Given the description of an element on the screen output the (x, y) to click on. 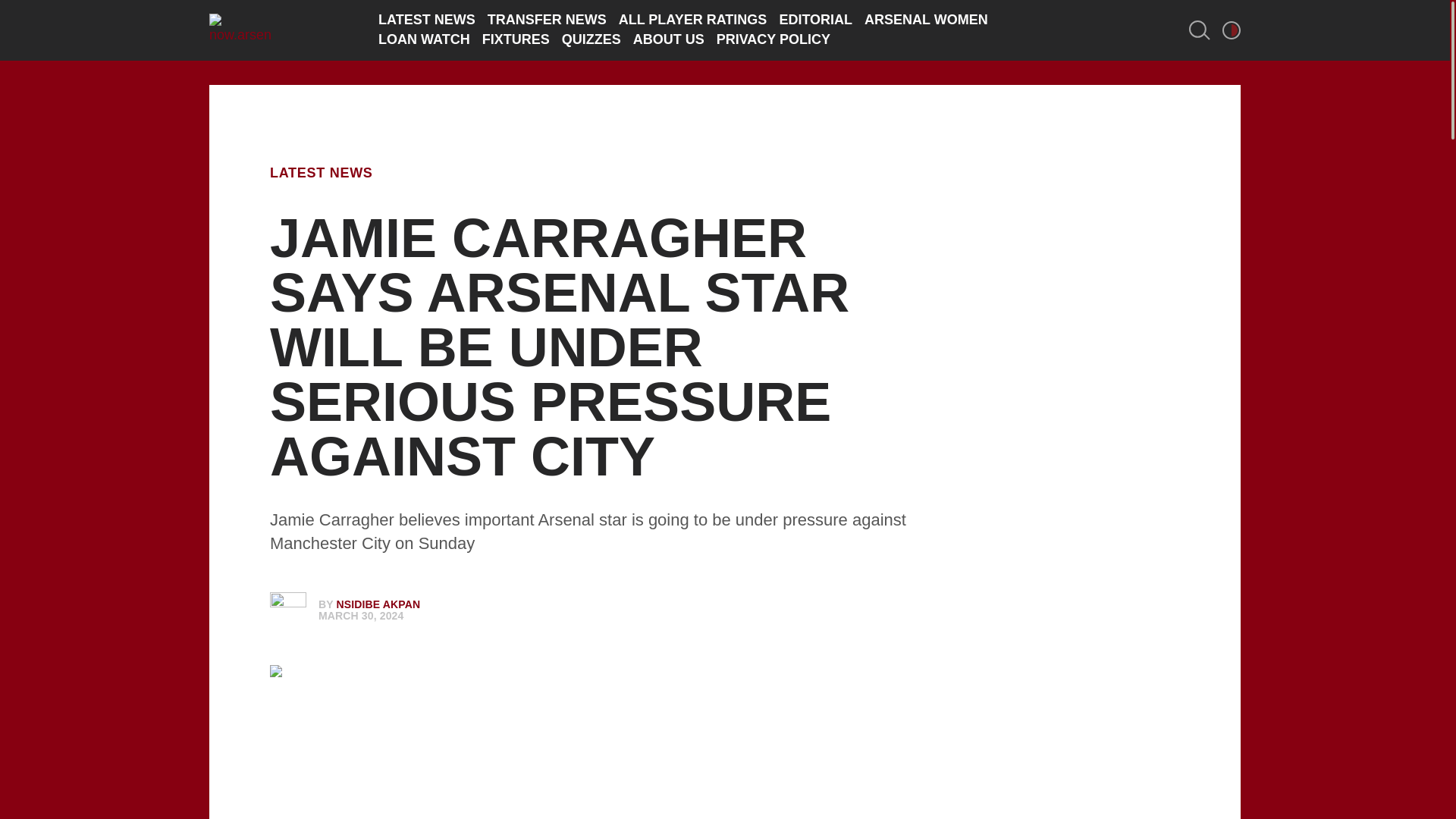
FIXTURES (515, 39)
ARSENAL WOMEN (926, 20)
LATEST NEWS (427, 20)
QUIZZES (591, 39)
EDITORIAL (814, 20)
ABOUT US (668, 39)
LIGHT MODE (1231, 30)
NSIDIBE AKPAN (378, 604)
PRIVACY POLICY (772, 39)
ALL PLAYER RATINGS (692, 20)
